Given the description of an element on the screen output the (x, y) to click on. 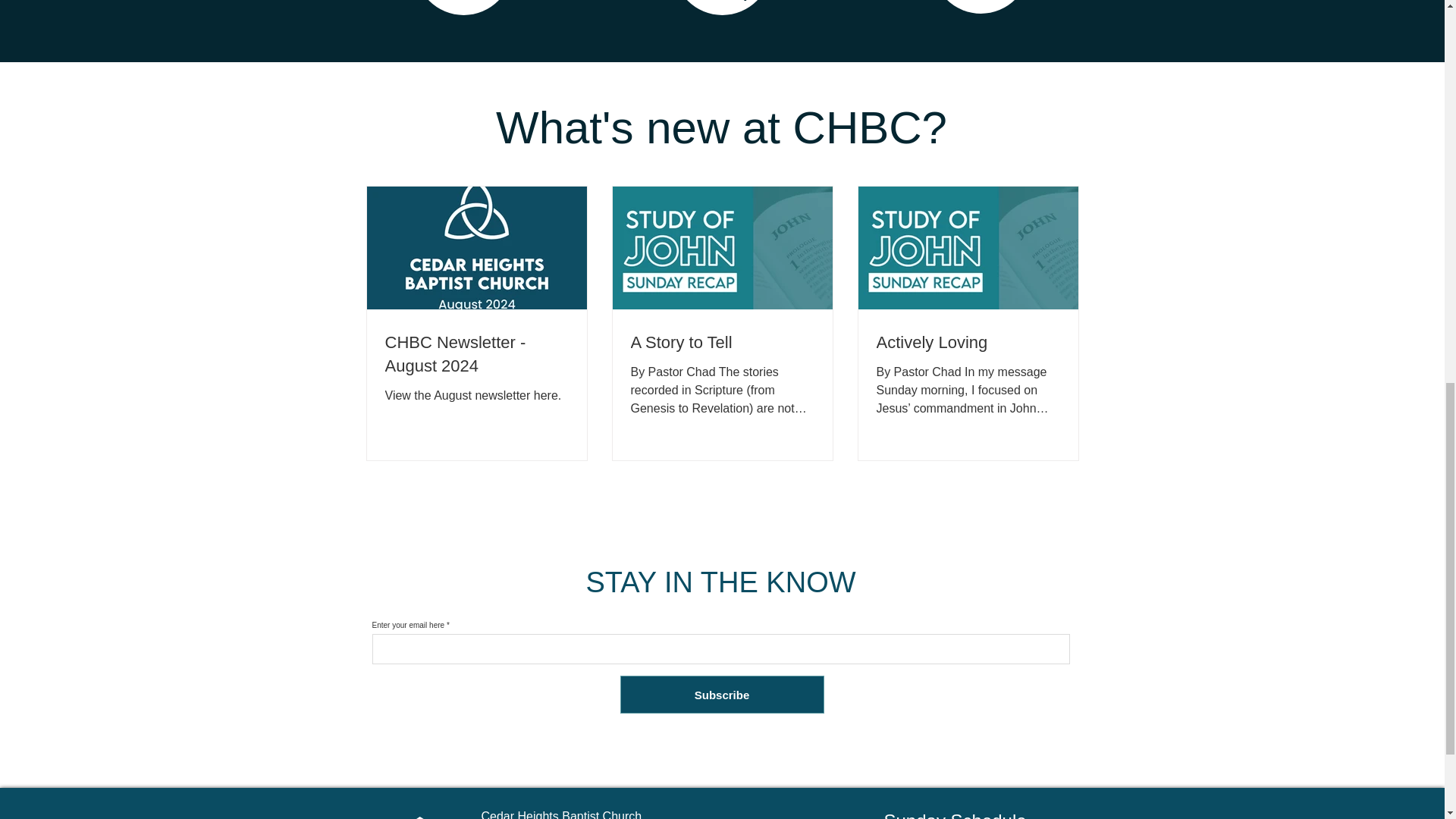
A Story to Tell (721, 342)
Subscribe (722, 694)
CHBC Newsletter - August 2024 (477, 354)
Actively Loving (967, 342)
Worship (722, 0)
Connect (462, 0)
